Given the description of an element on the screen output the (x, y) to click on. 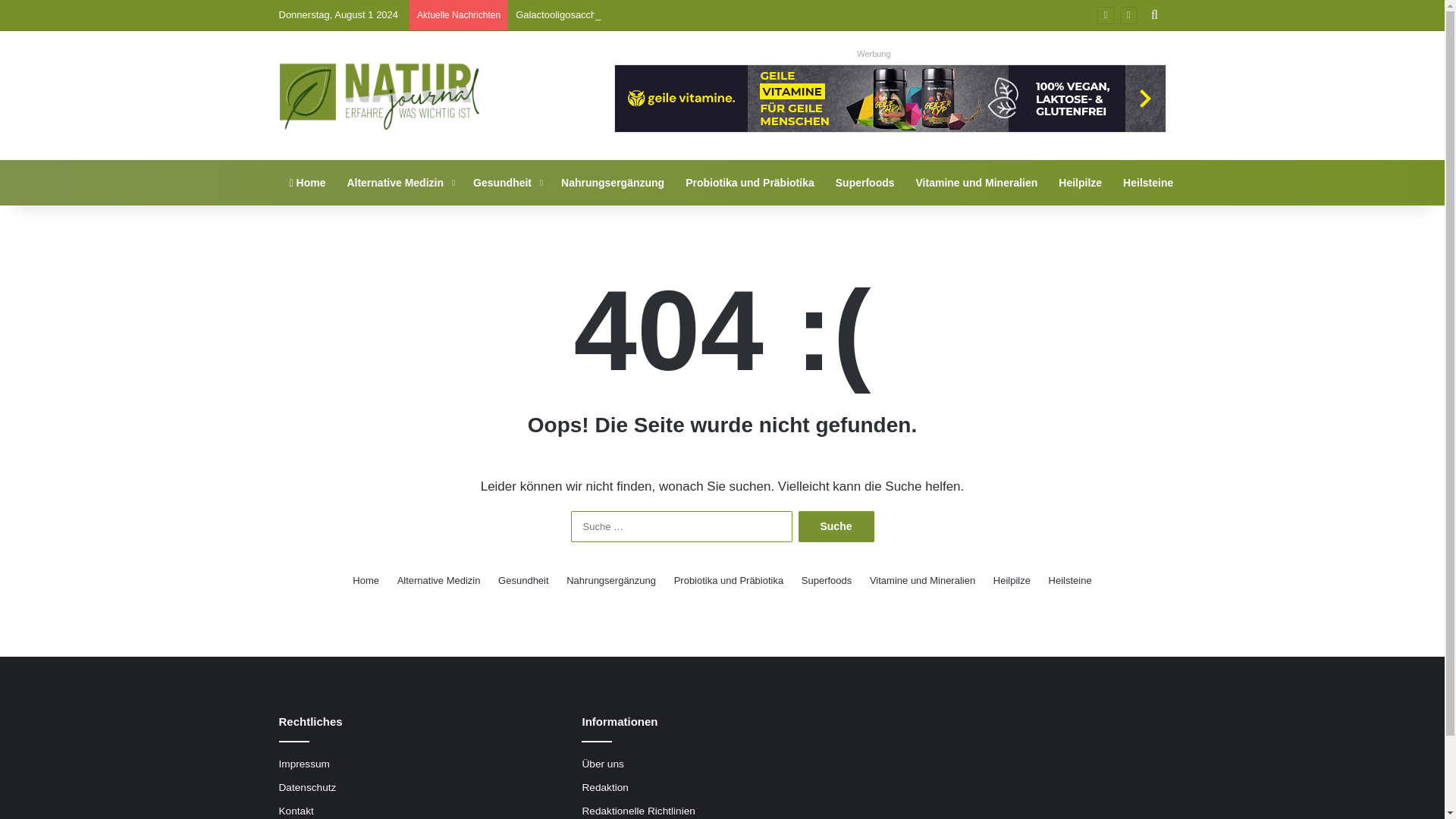
Impressum (304, 763)
Home (365, 580)
Suche (835, 526)
Vitamine und Mineralien (976, 182)
Alternative Medizin (438, 580)
Gesundheit (506, 182)
Redaktion (603, 787)
Heilsteine (1147, 182)
Alternative Medizin (399, 182)
Superfoods (826, 580)
Gesundheit (522, 580)
Home (307, 182)
Suche (835, 526)
Home (307, 182)
Heilpilze (1011, 580)
